Given the description of an element on the screen output the (x, y) to click on. 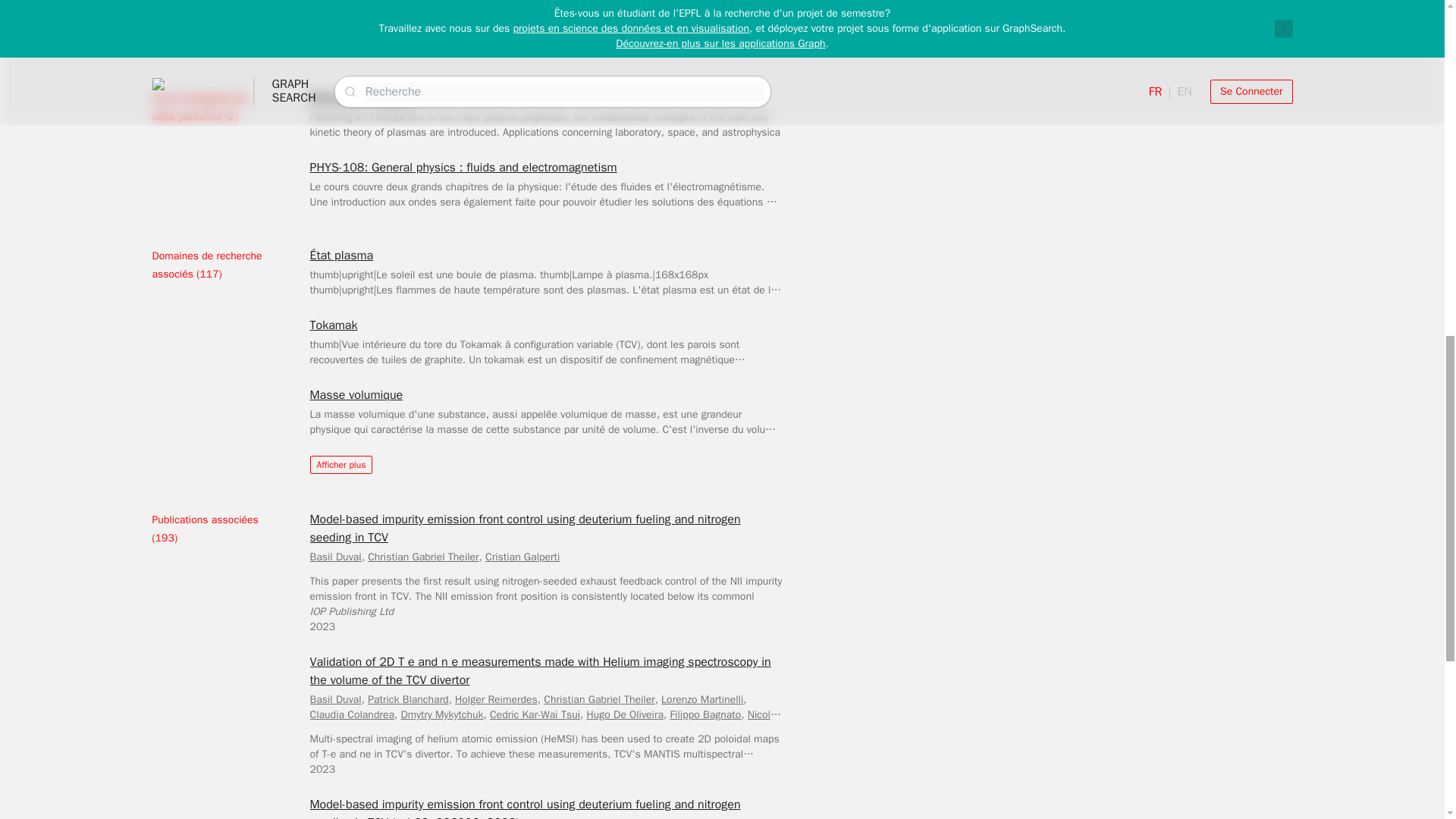
Tokamak (332, 325)
Afficher plus (340, 464)
SPC (388, 46)
PHYS-423: Plasma I (362, 97)
EPFL (318, 46)
Masse volumique (355, 394)
SB (354, 2)
PHYS-108: General physics : fluids and electromagnetism (461, 167)
SPC (388, 2)
SPC - Physique des Plasmas de Base (395, 29)
EPFL (318, 2)
SB (354, 46)
